Given the description of an element on the screen output the (x, y) to click on. 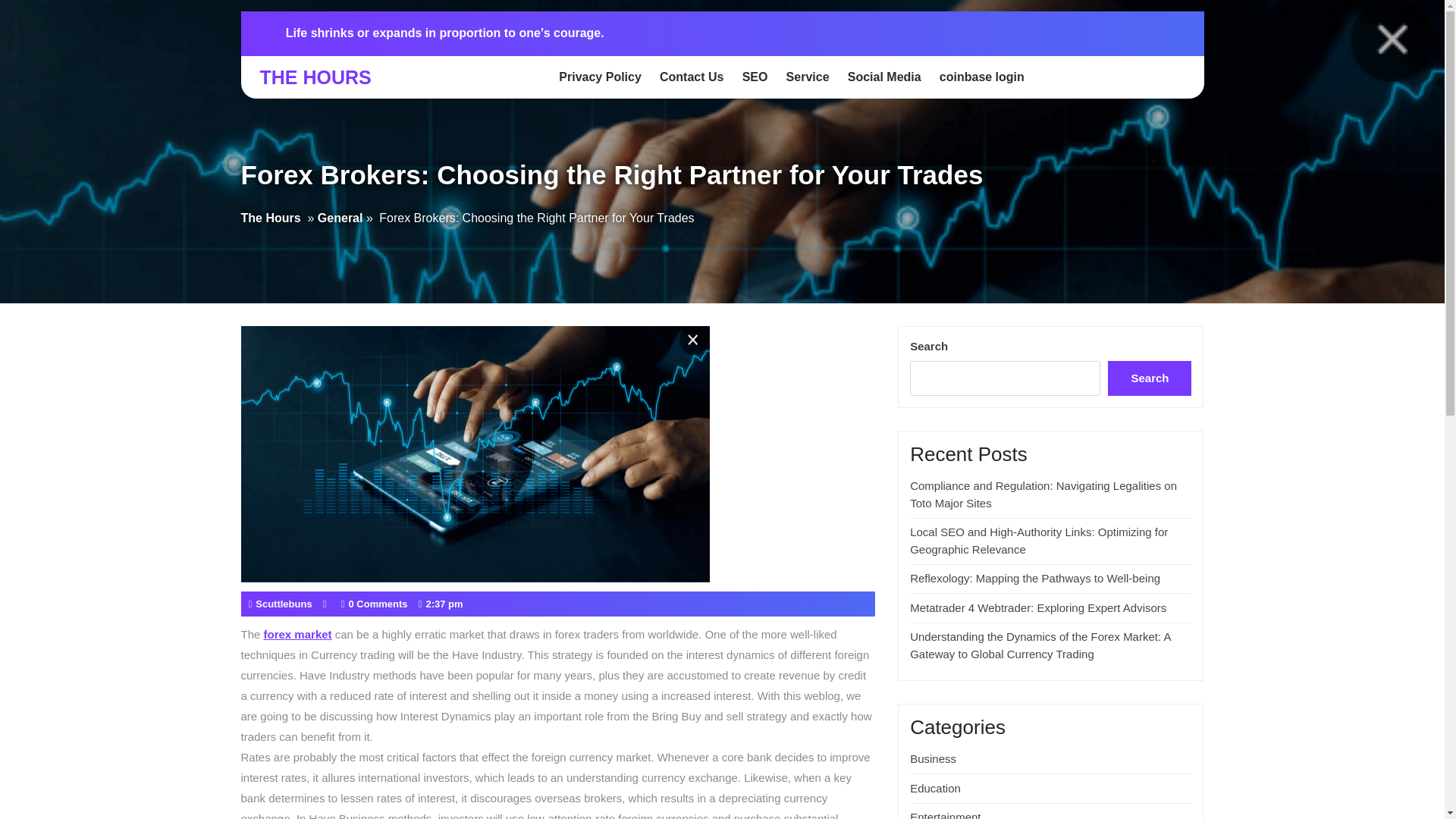
Metatrader 4 Webtrader: Exploring Expert Advisors (1038, 607)
forex market (297, 634)
Service (807, 77)
coinbase login (981, 77)
General (339, 218)
Entertainment (944, 814)
Search (1149, 378)
Reflexology: Mapping the Pathways to Well-being (1035, 577)
Social Media (884, 77)
Education (935, 788)
SEO (755, 77)
THE HOURS (315, 76)
Contact Us (691, 77)
